Given the description of an element on the screen output the (x, y) to click on. 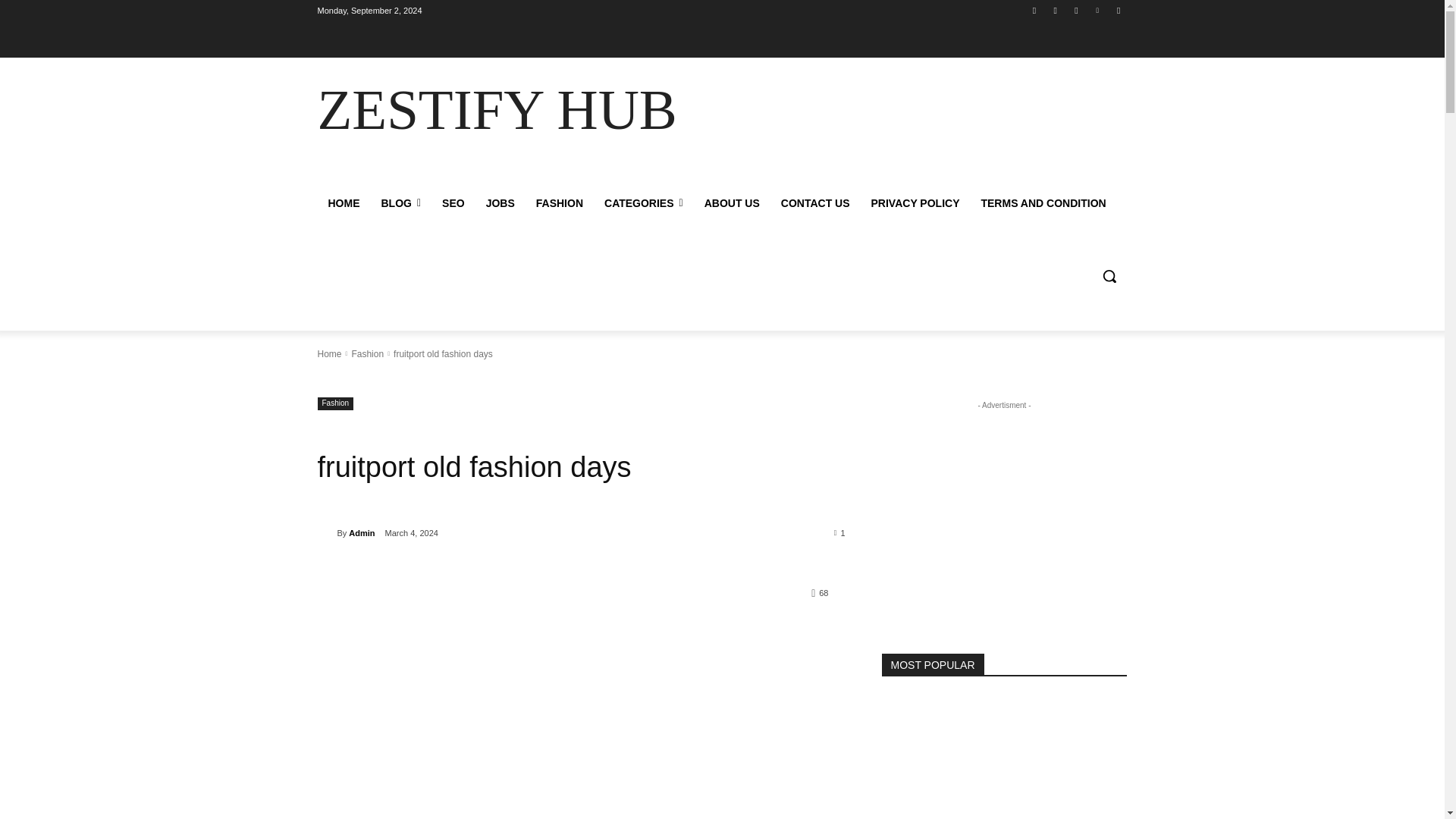
BLOG (399, 203)
HOME (343, 203)
ZESTIFY HUB (425, 109)
Instagram (1055, 9)
Facebook (1034, 9)
Vimeo (1097, 9)
Youtube (1117, 9)
Twitter (1075, 9)
